Given the description of an element on the screen output the (x, y) to click on. 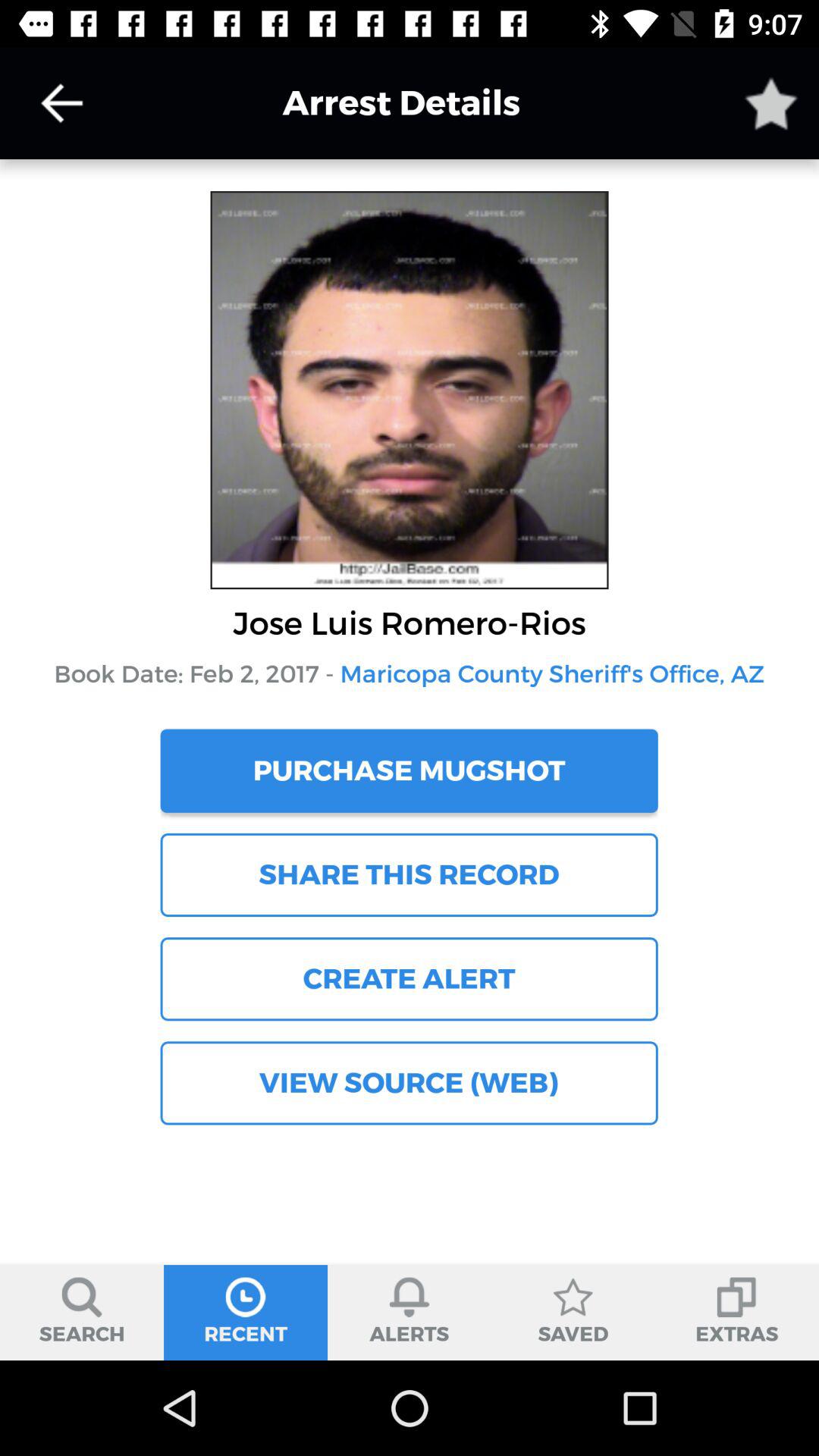
flip to view source (web) icon (409, 1082)
